Given the description of an element on the screen output the (x, y) to click on. 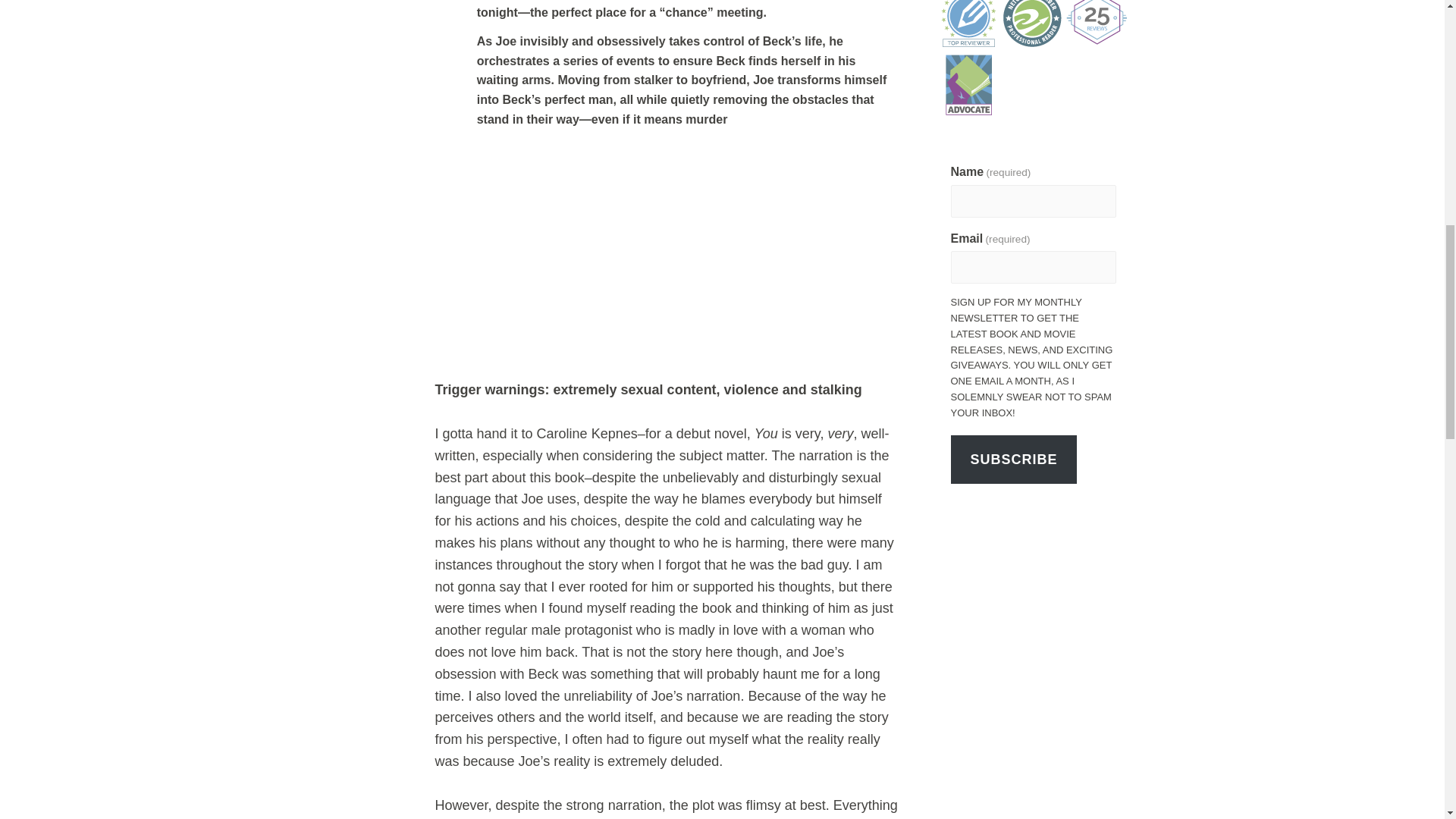
25 Book Reviews (1095, 24)
Professional Reader (1032, 24)
Reviews Published (968, 24)
2015 Challenge Participant (968, 84)
